Given the description of an element on the screen output the (x, y) to click on. 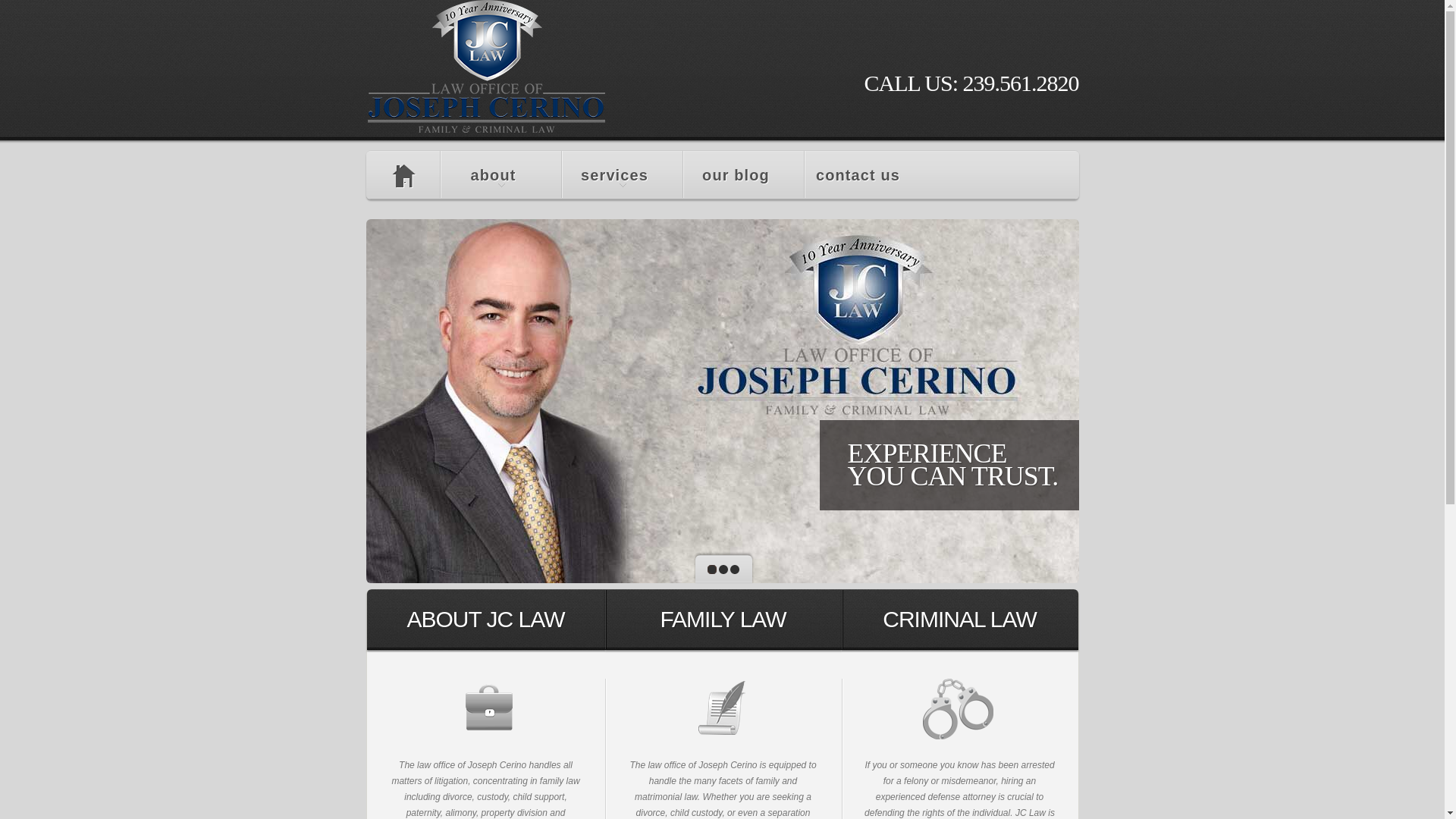
our blog (743, 174)
2 (723, 569)
home (402, 174)
1 (711, 569)
3 (733, 569)
contact us (865, 174)
